Given the description of an element on the screen output the (x, y) to click on. 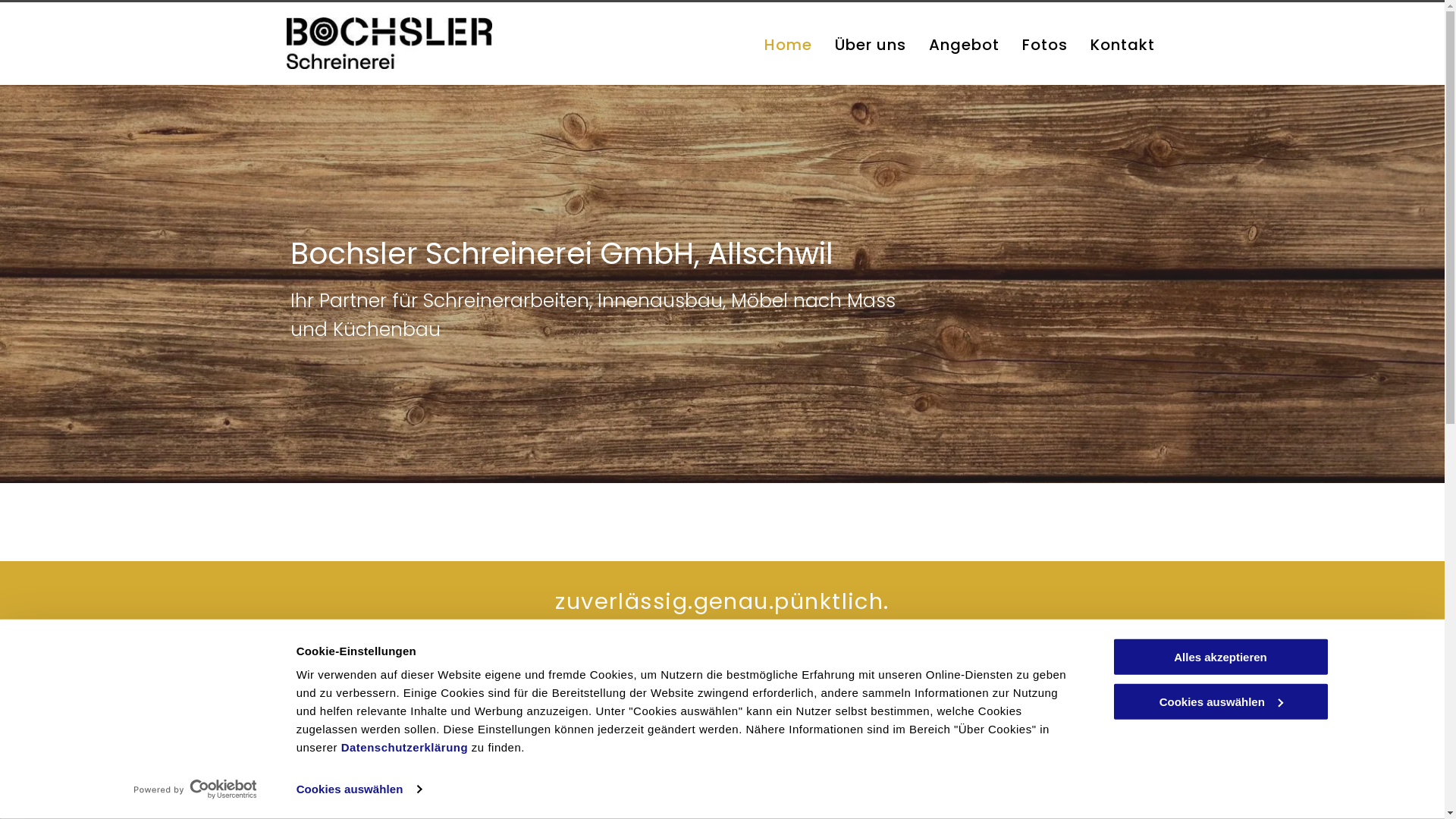
Alles akzeptieren Element type: text (1219, 656)
Angebot Element type: text (963, 44)
Kontakt Element type: text (1122, 44)
Home Element type: text (788, 44)
Fotos Element type: text (1044, 44)
